Given the description of an element on the screen output the (x, y) to click on. 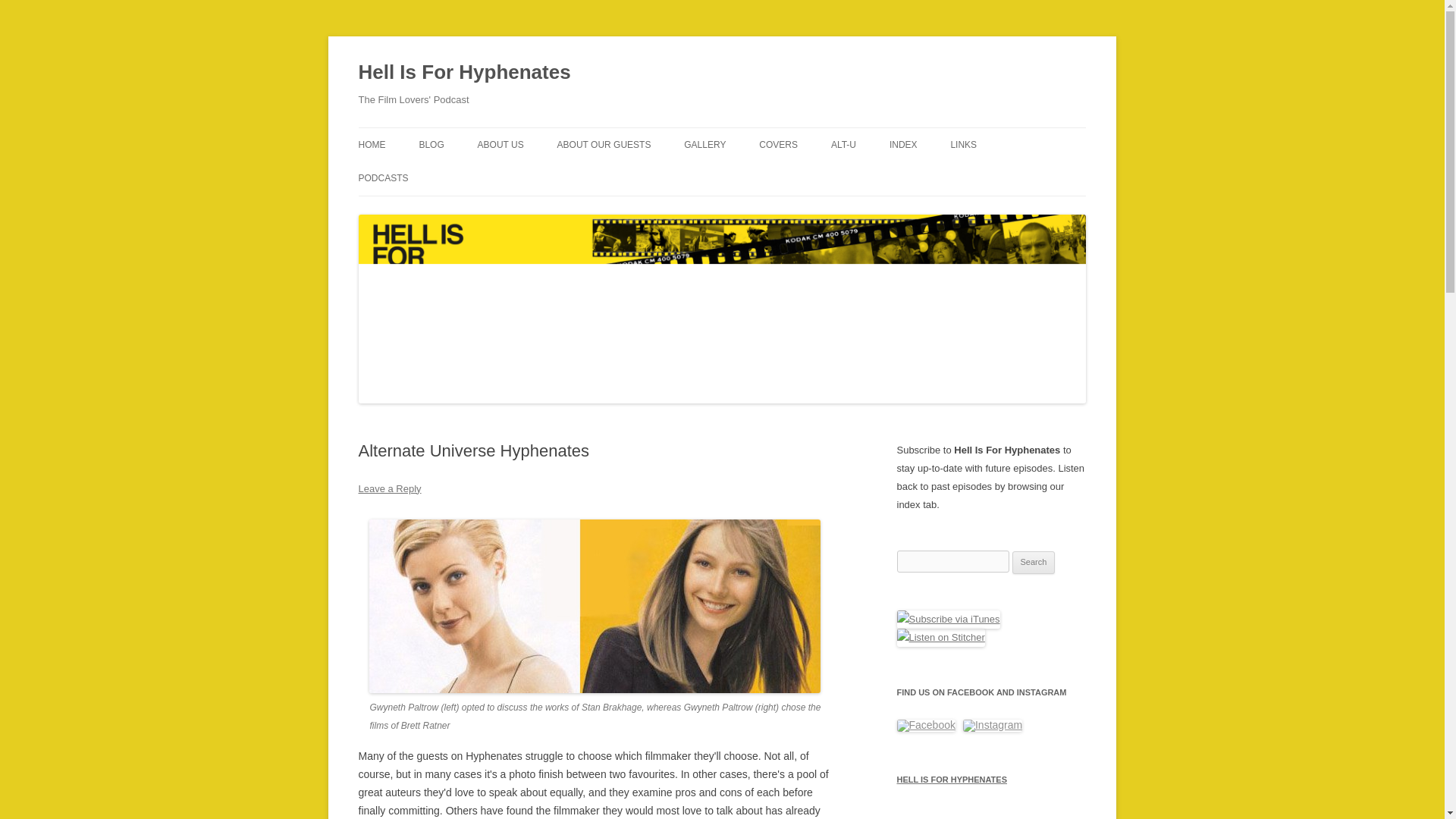
GALLERY (704, 144)
PODCASTS (382, 177)
HELL IS FOR HYPHENATES (991, 779)
Search (1033, 562)
Like us on Facebook (925, 725)
ABOUT US (500, 144)
ABOUT OUR GUESTS (603, 144)
Search (1033, 562)
